Given the description of an element on the screen output the (x, y) to click on. 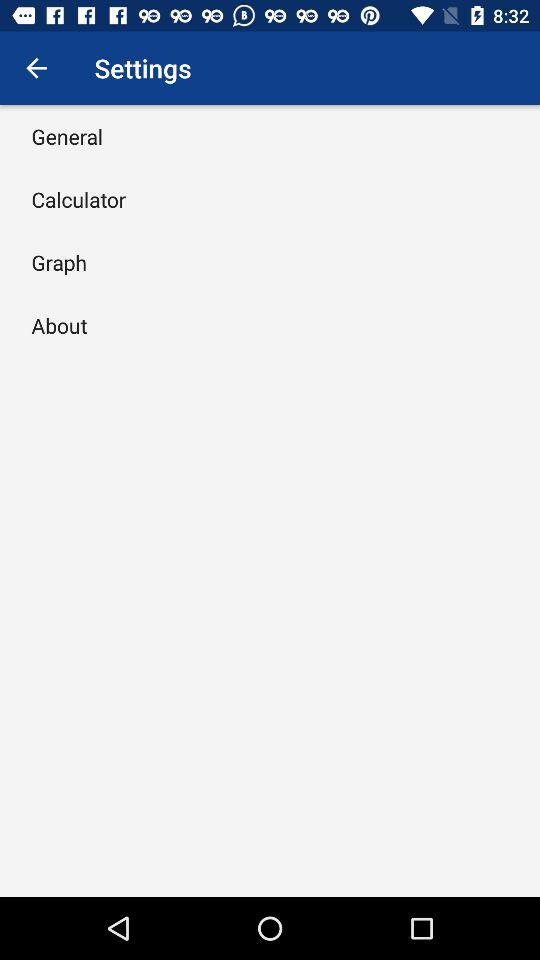
flip until calculator item (78, 199)
